Given the description of an element on the screen output the (x, y) to click on. 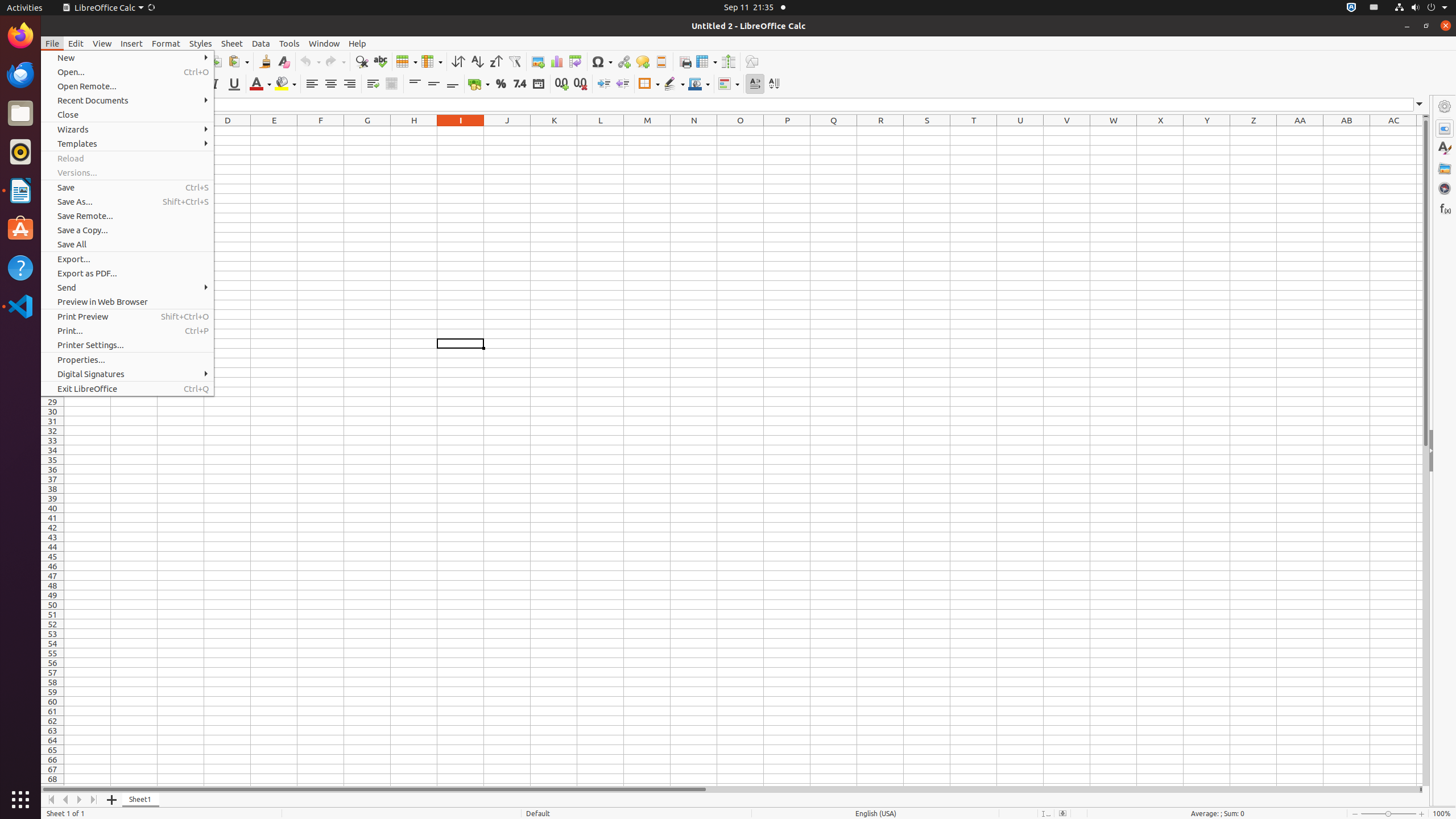
V1 Element type: table-cell (1066, 130)
Sort Descending Element type: push-button (495, 61)
Navigator Element type: radio-button (1444, 188)
Hyperlink Element type: toggle-button (623, 61)
Date Element type: push-button (537, 83)
